Given the description of an element on the screen output the (x, y) to click on. 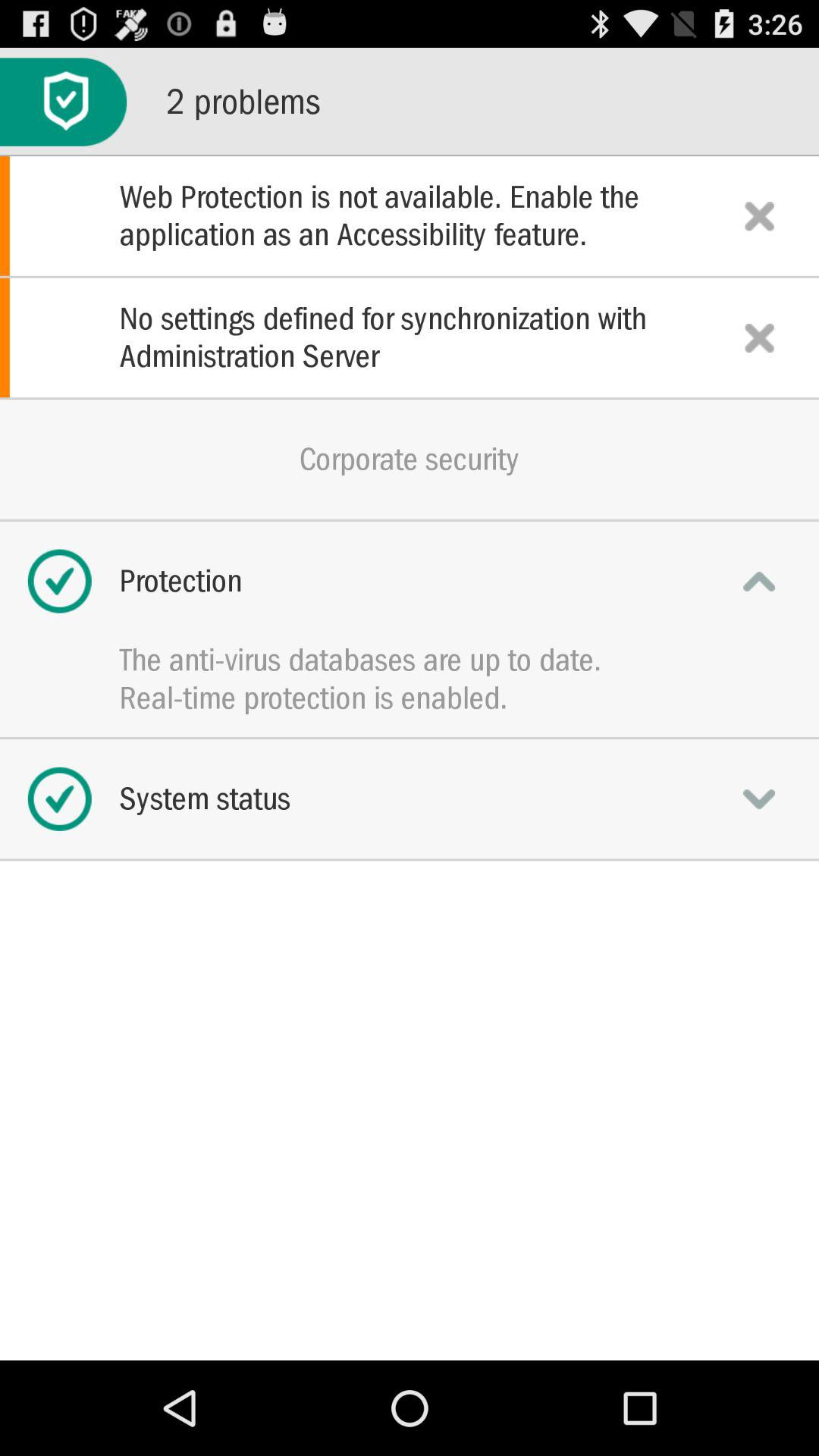
close notification (759, 337)
